Given the description of an element on the screen output the (x, y) to click on. 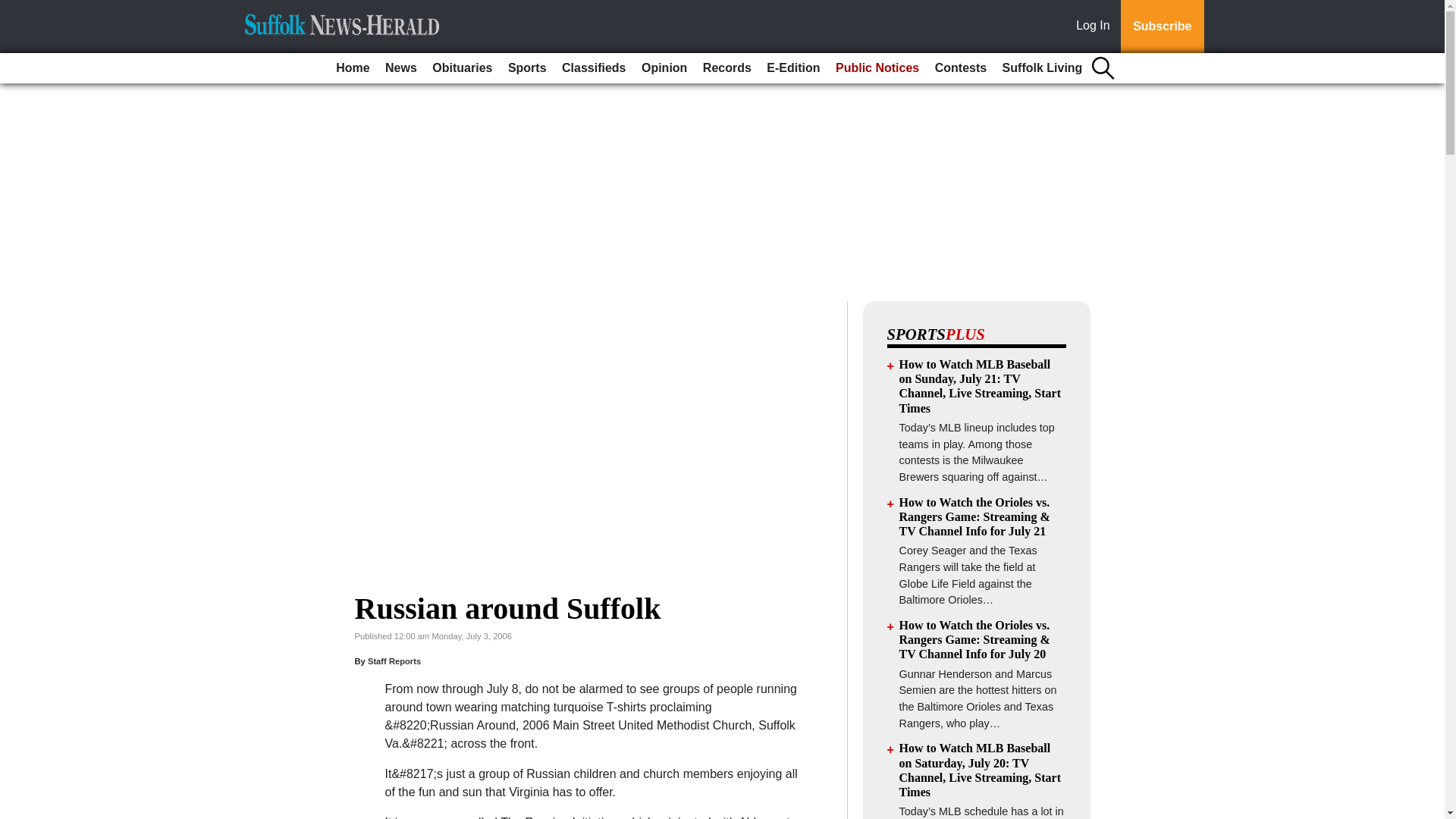
Sports (527, 68)
News (400, 68)
Go (13, 9)
Subscribe (1162, 26)
Opinion (663, 68)
Staff Reports (394, 660)
E-Edition (792, 68)
Public Notices (876, 68)
Records (727, 68)
Classifieds (593, 68)
Obituaries (461, 68)
Contests (960, 68)
Suffolk Living (1042, 68)
